Given the description of an element on the screen output the (x, y) to click on. 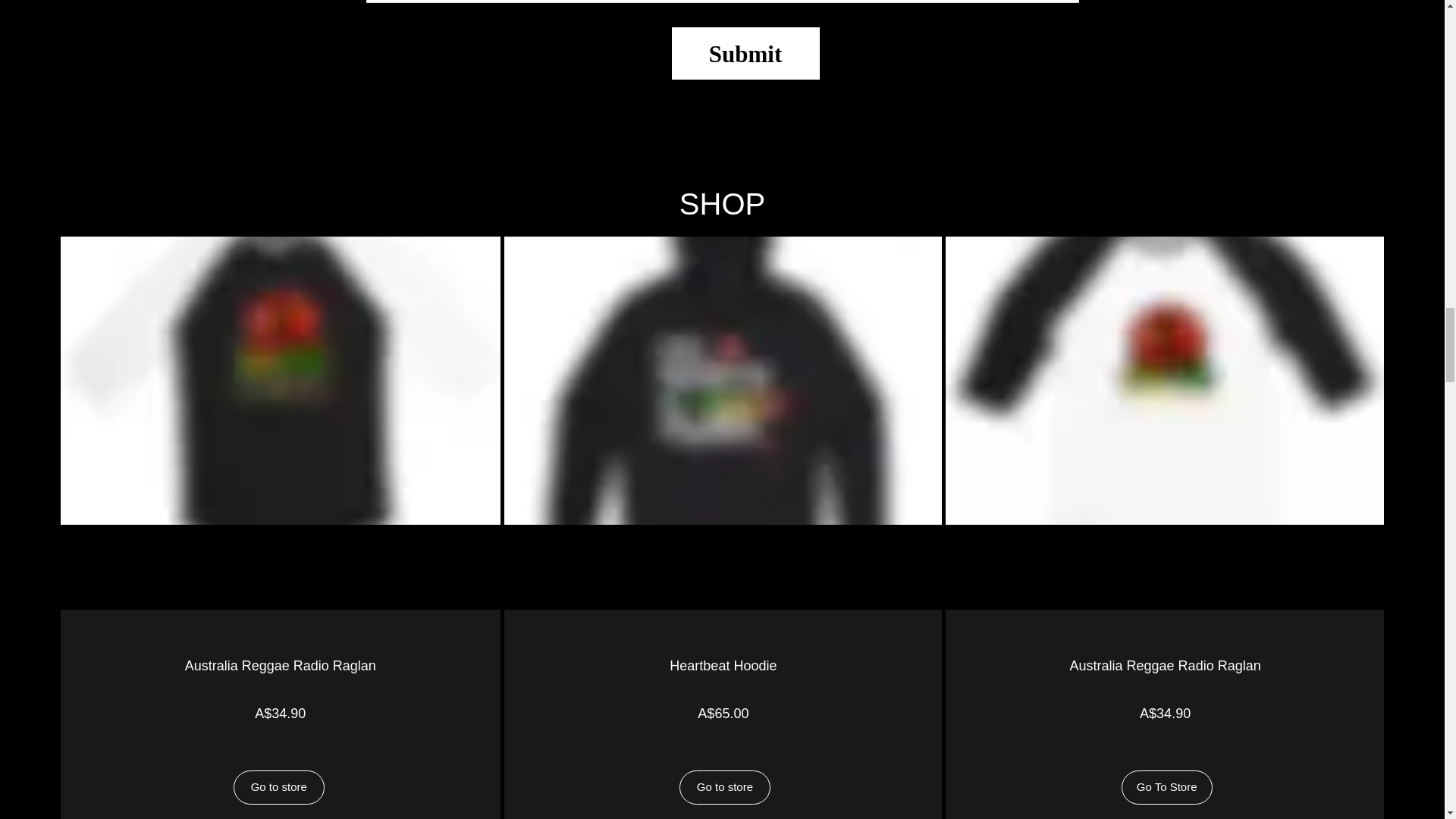
Submit (745, 53)
Go to store (724, 787)
Go To Store (1166, 787)
Go to store (278, 787)
